Given the description of an element on the screen output the (x, y) to click on. 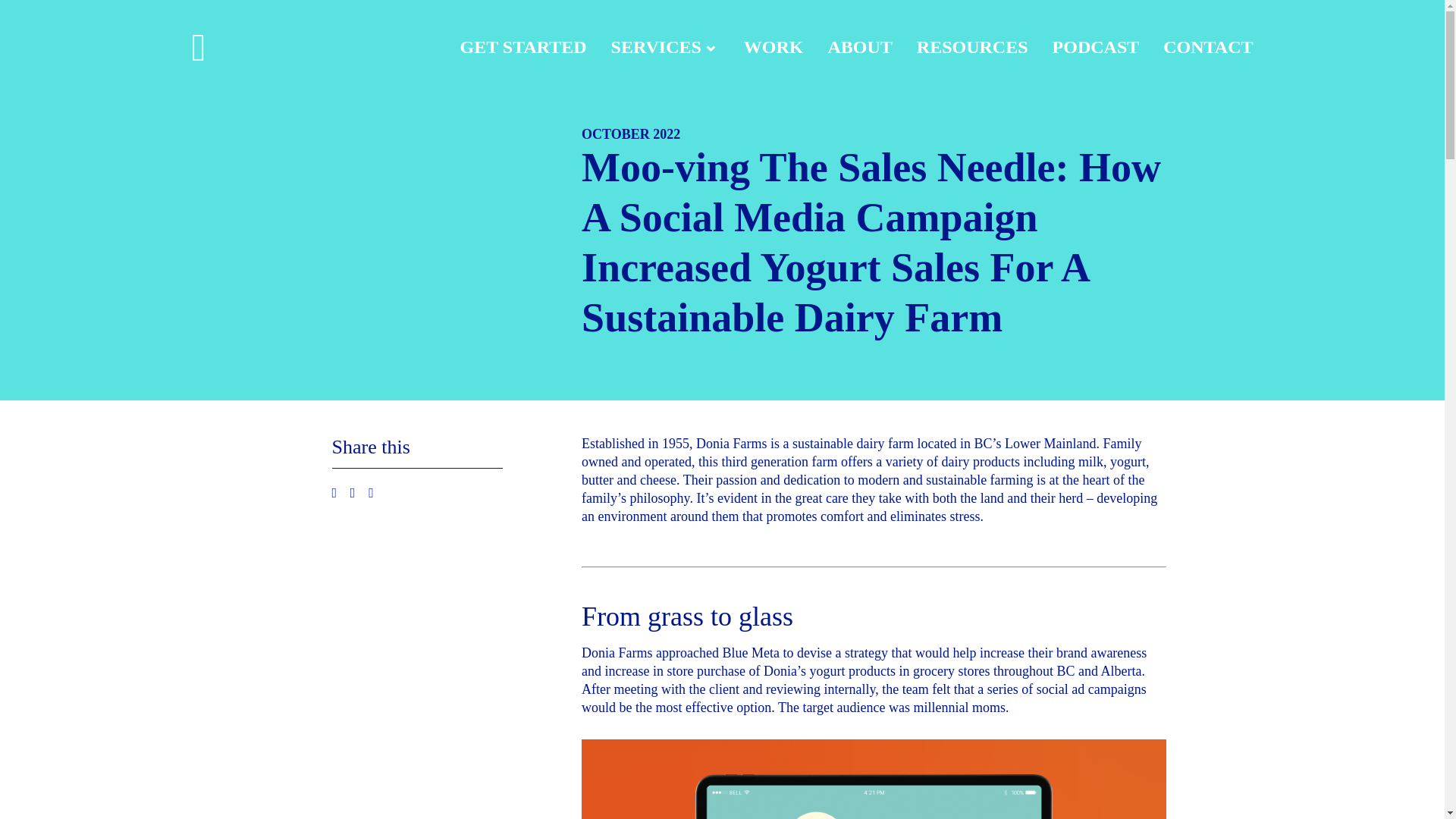
GET STARTED (523, 46)
CONTACT (1207, 46)
PODCAST (1096, 46)
WORK (773, 46)
RESOURCES (972, 46)
SERVICES (656, 46)
ABOUT (859, 46)
